Given the description of an element on the screen output the (x, y) to click on. 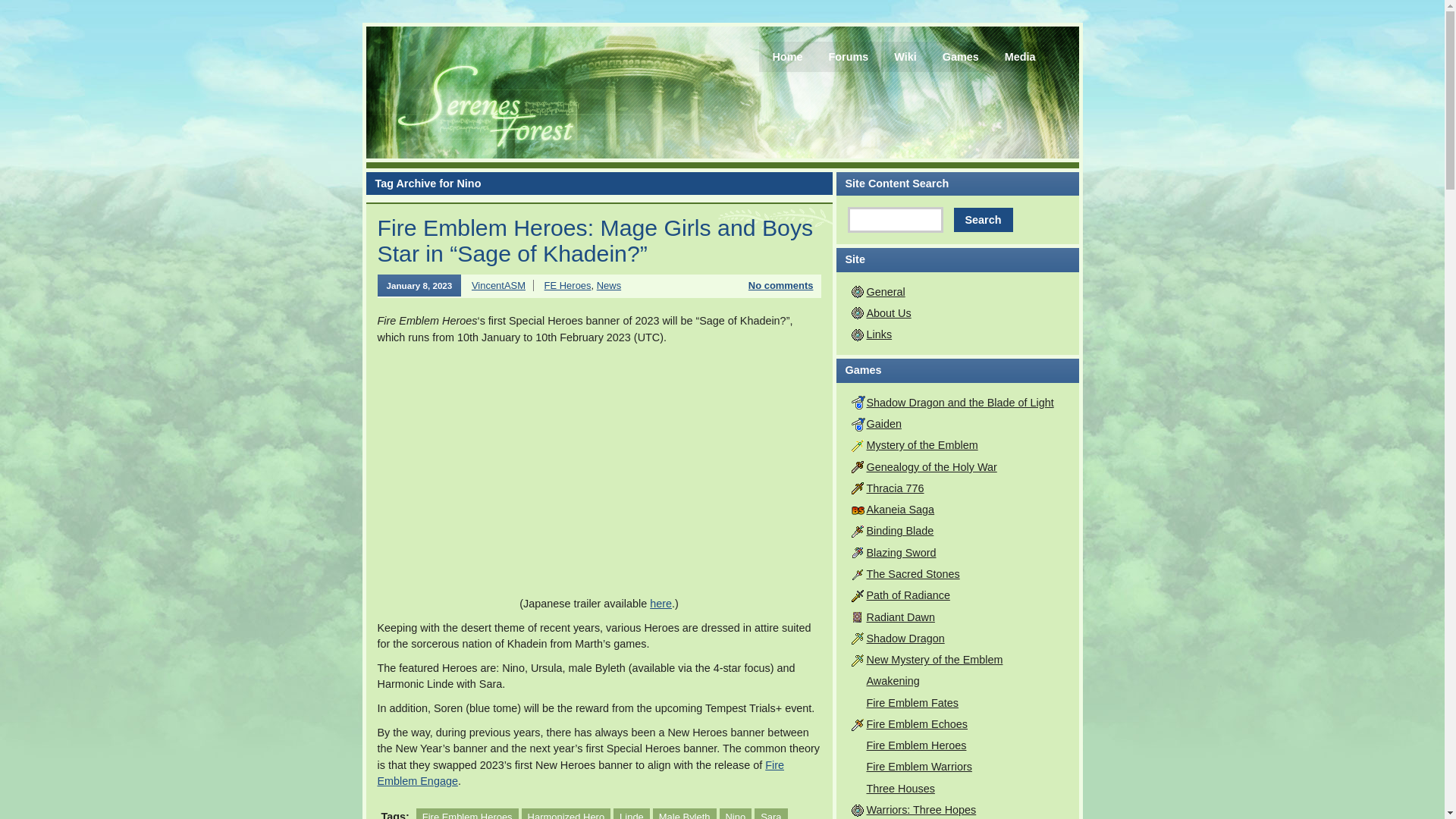
Games (960, 56)
Forums (847, 56)
Wiki (904, 56)
Fire Emblem Echoes: Shadows of Valentia (917, 724)
Posts by VincentASM (498, 285)
Search (983, 219)
Home (786, 56)
Media (1019, 56)
